Given the description of an element on the screen output the (x, y) to click on. 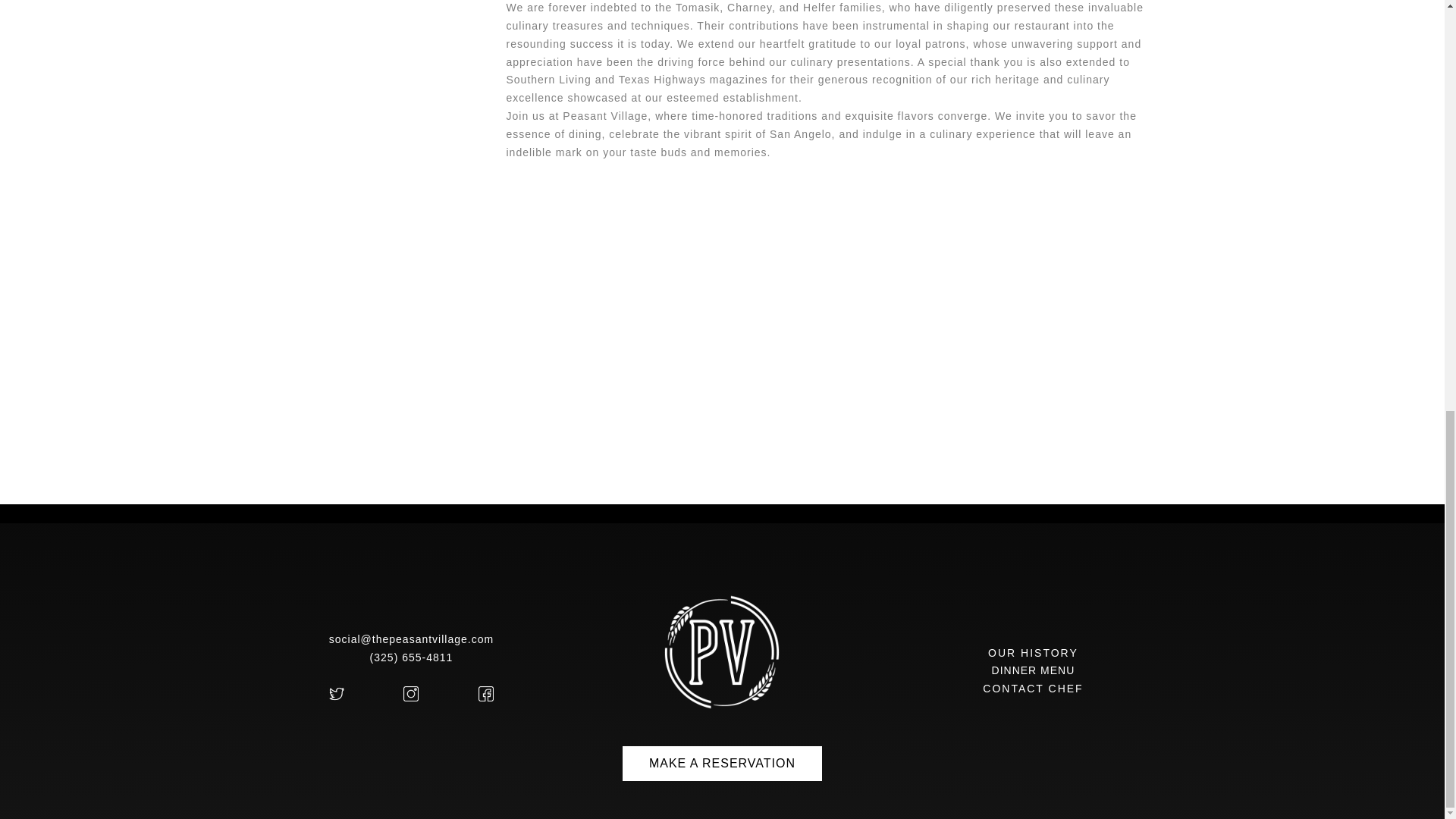
MAKE A RESERVATION (722, 763)
CONTACT CHEF (1032, 688)
DINNER MENU (1033, 670)
OUR HISTORY (1033, 653)
